Given the description of an element on the screen output the (x, y) to click on. 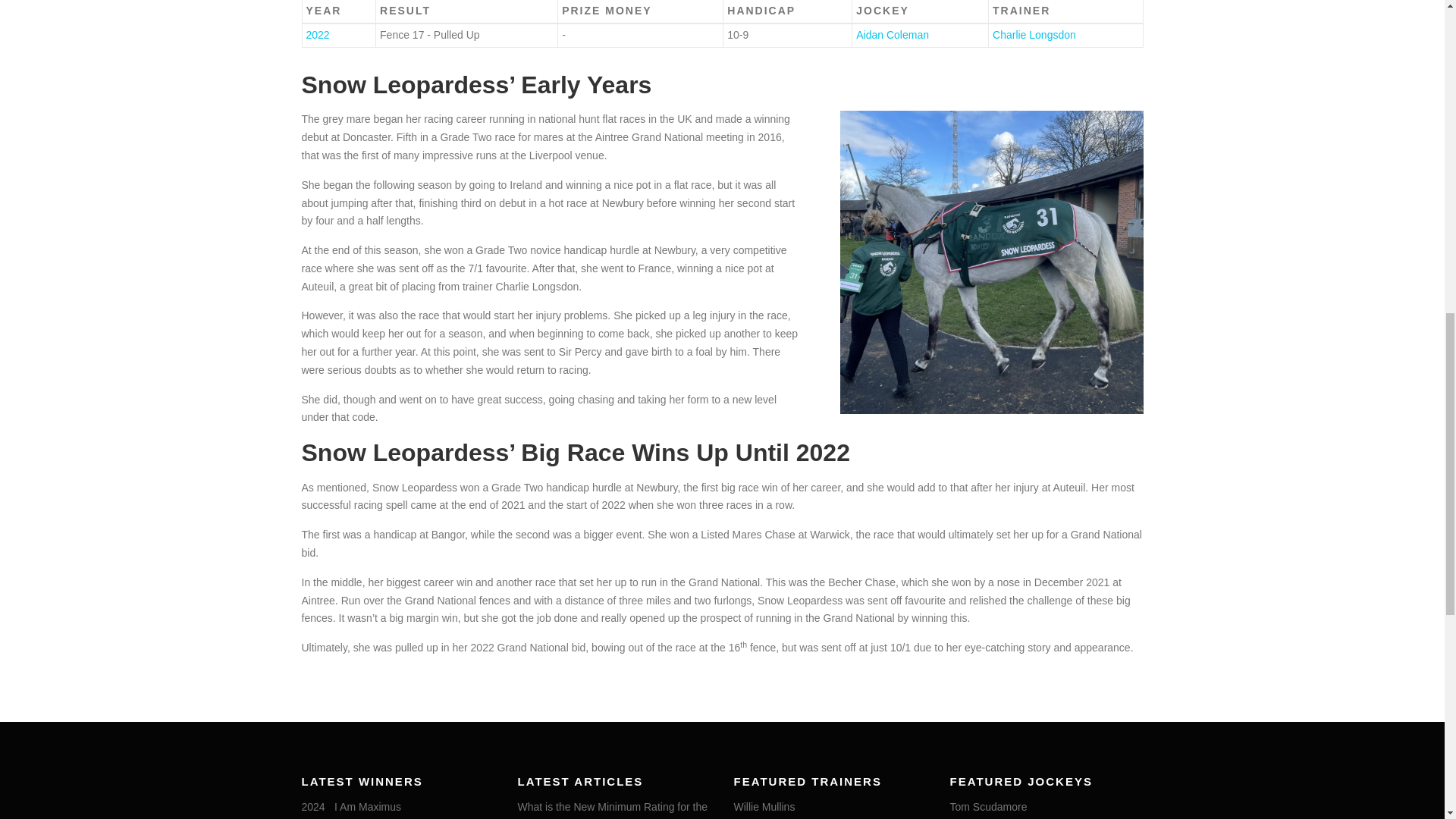
Aidan Coleman (892, 34)
2022 (317, 34)
Charlie Longsdon (1033, 34)
2024 (312, 806)
What is the New Minimum Rating for the Grand National? (611, 809)
I Am Maximus (367, 806)
